Given the description of an element on the screen output the (x, y) to click on. 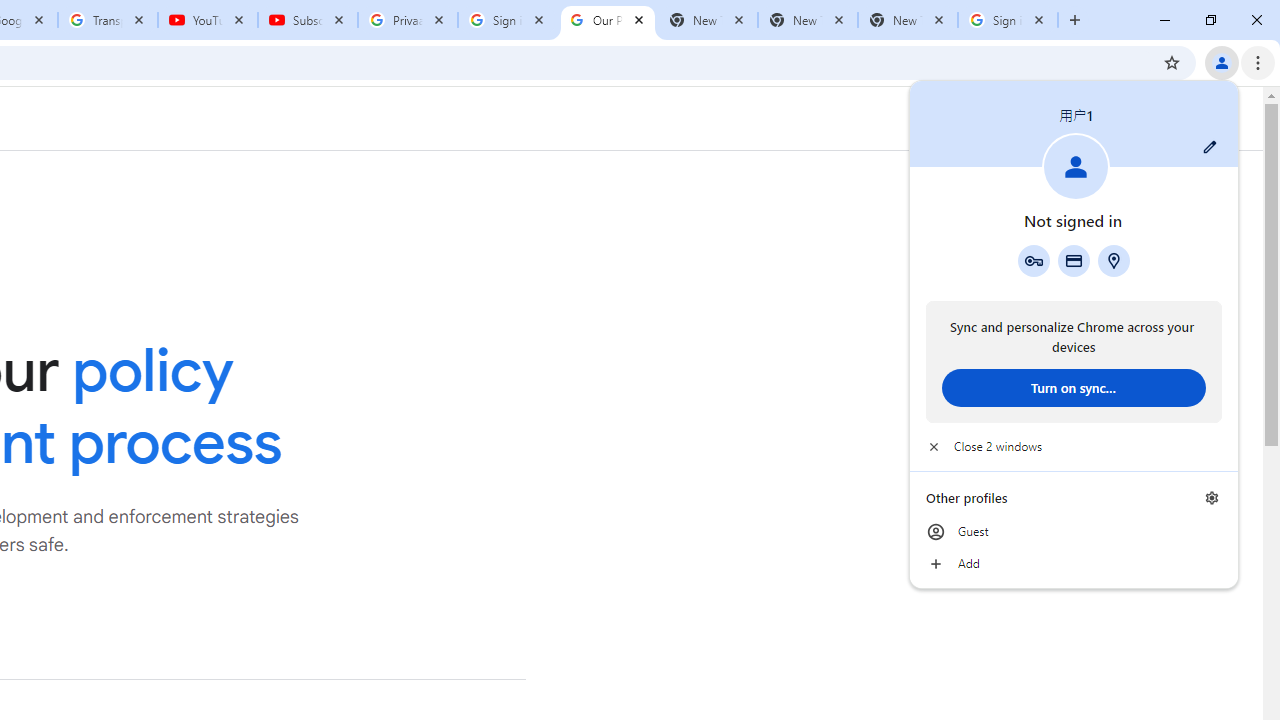
Payment methods (1074, 260)
Addresses and more (1114, 260)
Google Password Manager (1033, 260)
Guest (1073, 531)
YouTube (207, 20)
Sign in - Google Accounts (508, 20)
Customize profile (1210, 147)
Subscriptions - YouTube (308, 20)
Add (1073, 563)
